Given the description of an element on the screen output the (x, y) to click on. 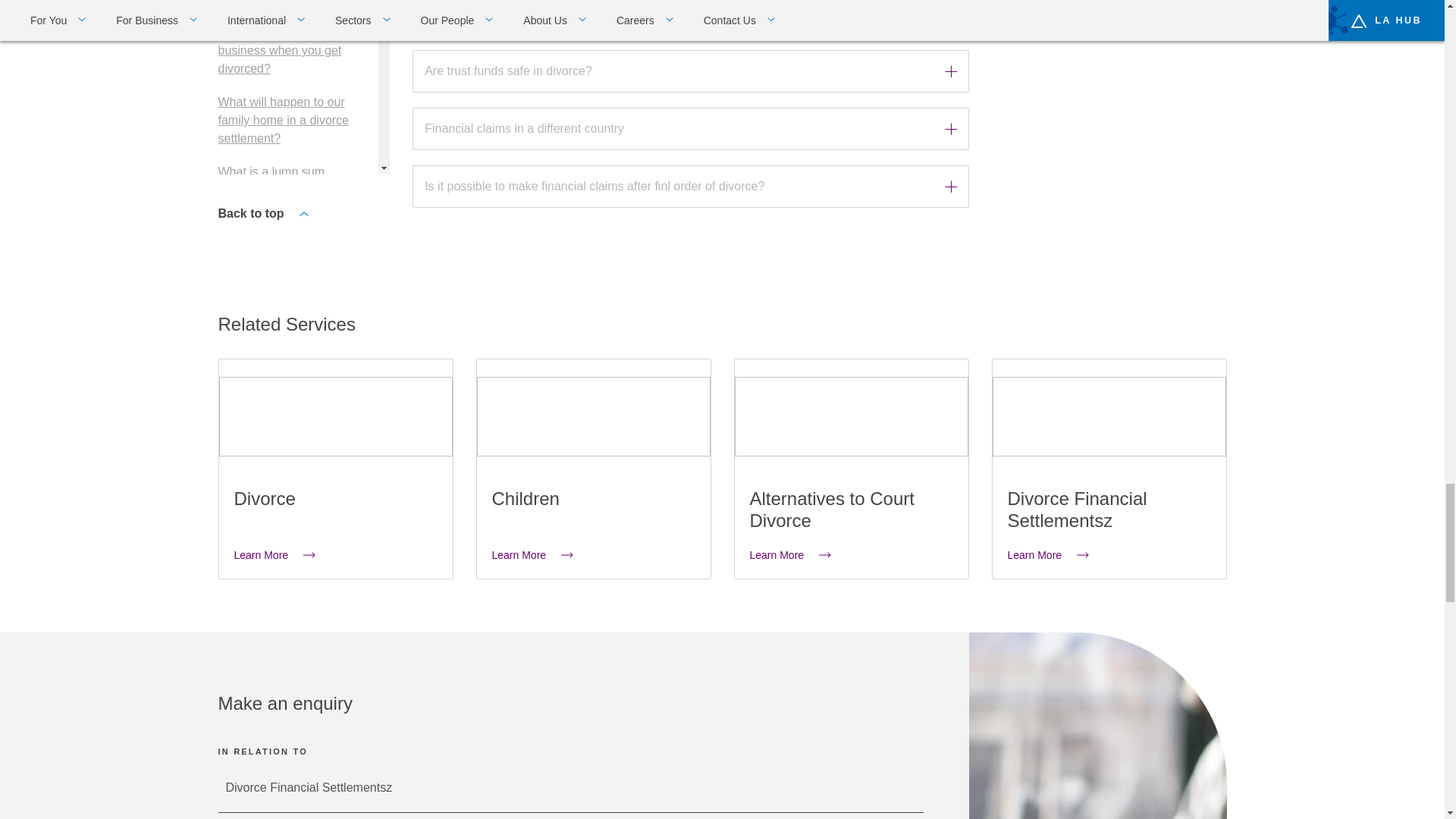
Divorce Financial Settlementsz (570, 788)
